Given the description of an element on the screen output the (x, y) to click on. 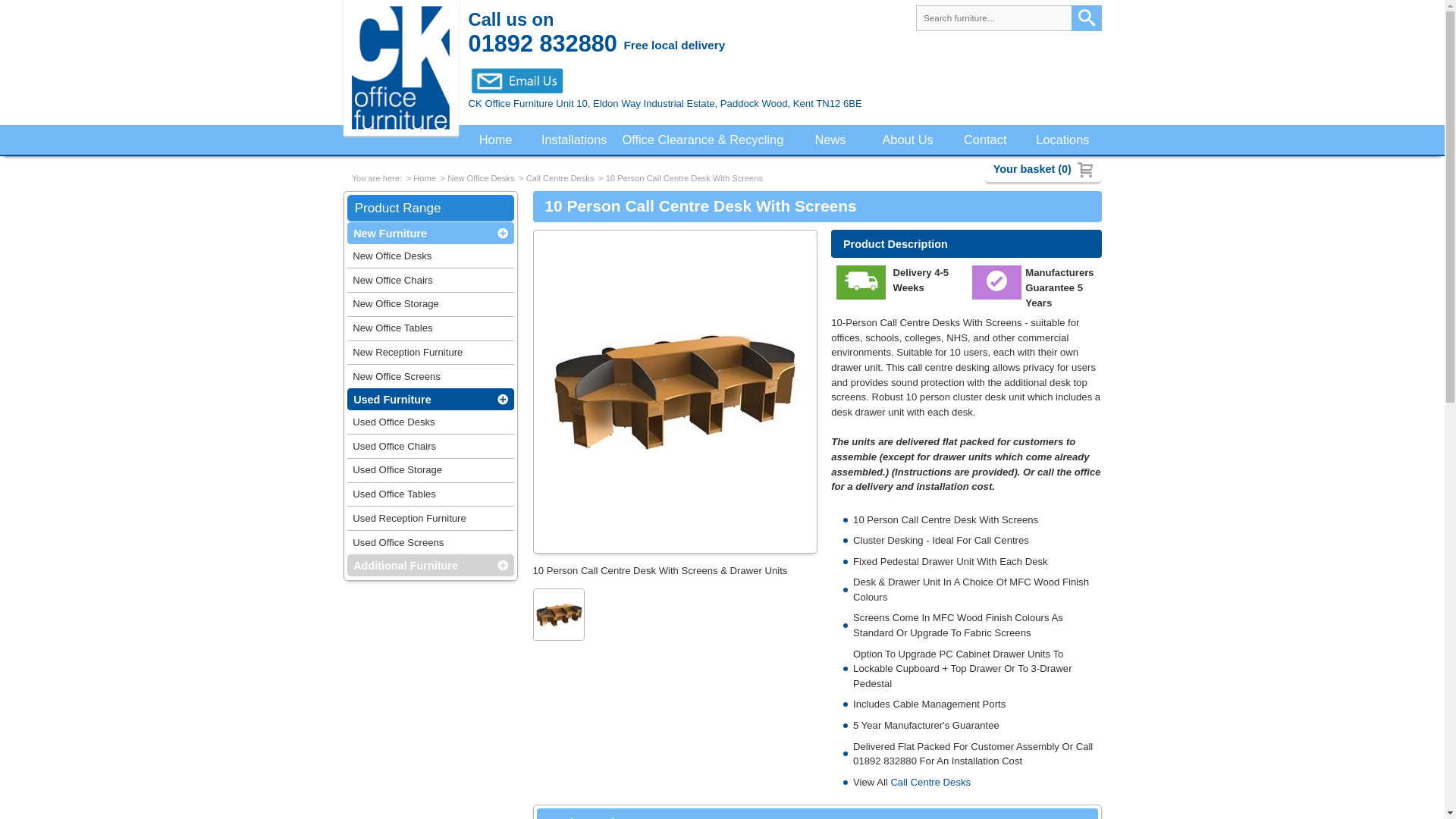
Used Office Screens (430, 542)
News (830, 139)
New Office Desks (479, 177)
Home (424, 177)
Call Centre Desks (930, 781)
New Office Tables (430, 328)
About Us (907, 139)
Installations (574, 139)
Locations (1061, 139)
New Office Screens (430, 376)
